Given the description of an element on the screen output the (x, y) to click on. 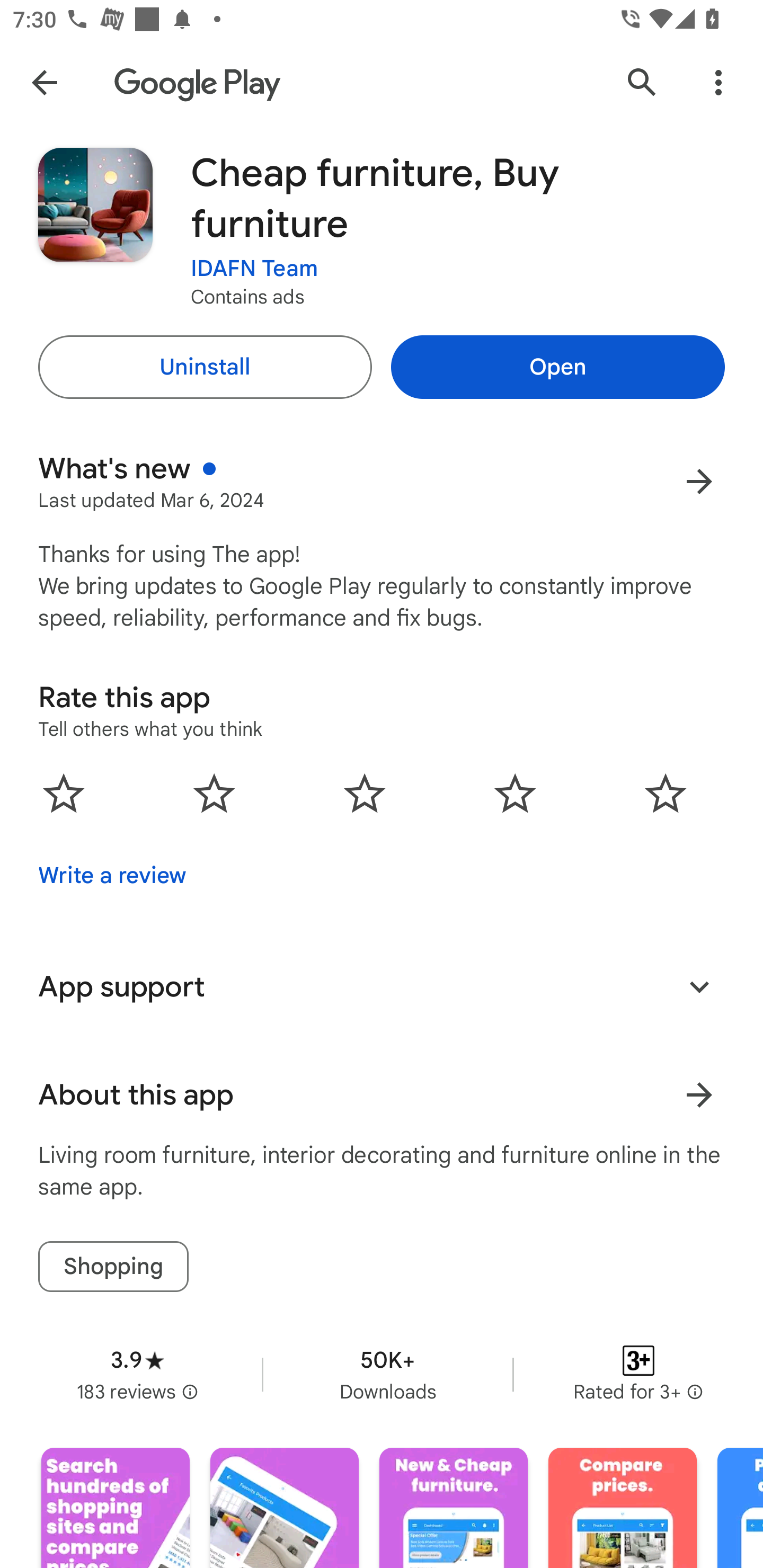
Navigate up (44, 81)
Search Google Play (642, 81)
More Options (718, 81)
IDAFN Team (254, 268)
Uninstall (205, 366)
Open (557, 366)
More results for What's new (699, 481)
0.0 (364, 792)
Write a review (112, 875)
App support Expand (381, 986)
Expand (699, 986)
About this app Learn more About this app (381, 1094)
Learn more About this app (699, 1094)
Shopping tag (113, 1265)
Average rating 3.9 stars in 183 reviews (137, 1374)
Content rating Rated for 3+ (638, 1374)
Screenshot "1" of "7" (115, 1507)
Screenshot "2" of "7" (284, 1507)
Screenshot "3" of "7" (453, 1507)
Screenshot "4" of "7" (622, 1507)
